Given the description of an element on the screen output the (x, y) to click on. 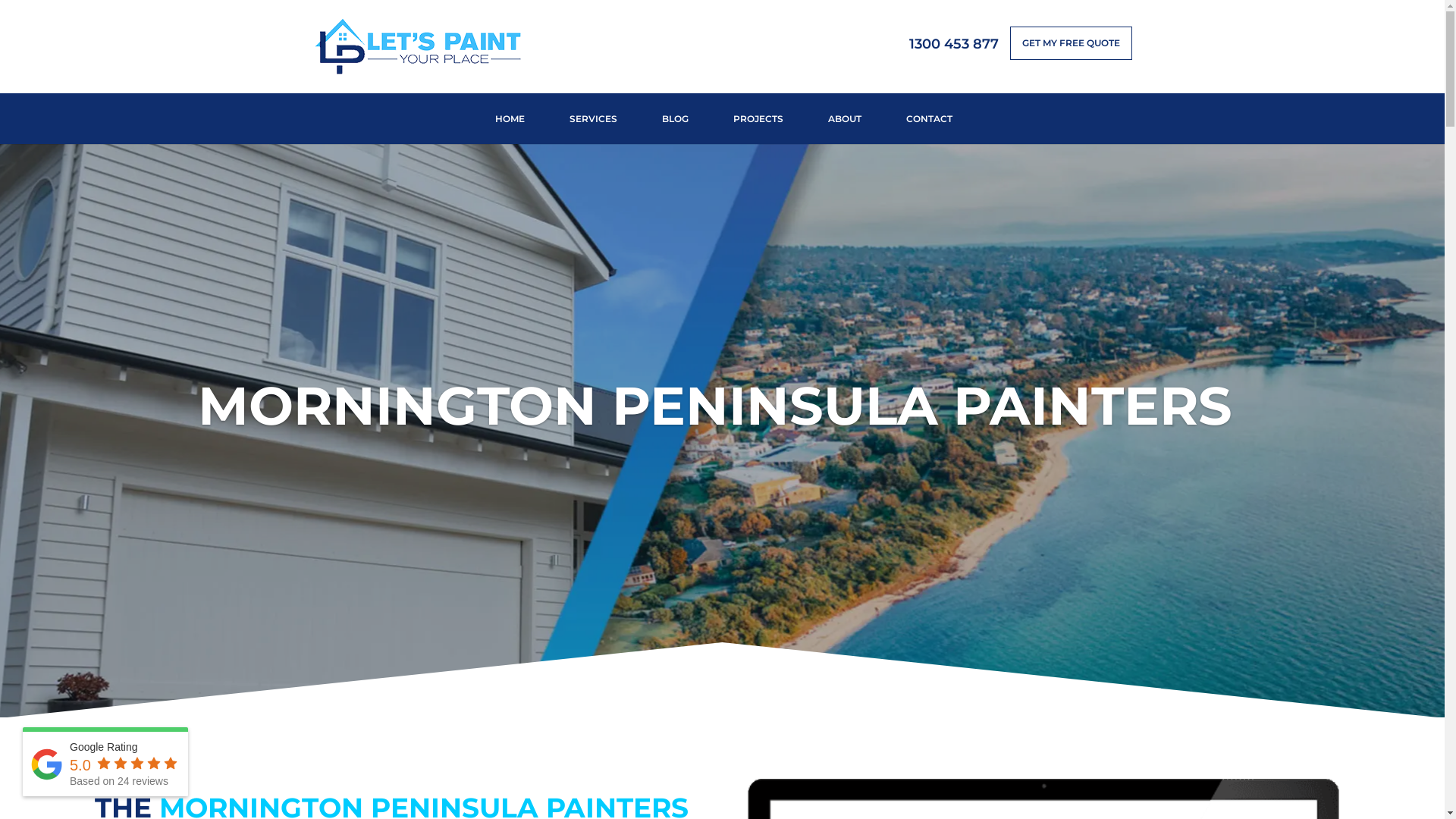
HOME Element type: text (509, 118)
CONTACT Element type: text (929, 118)
SERVICES Element type: text (592, 118)
GET MY FREE QUOTE Element type: text (1071, 42)
BLOG Element type: text (674, 118)
1300 453 877 Element type: text (952, 49)
ABOUT Element type: text (844, 118)
PROJECTS Element type: text (758, 118)
